Given the description of an element on the screen output the (x, y) to click on. 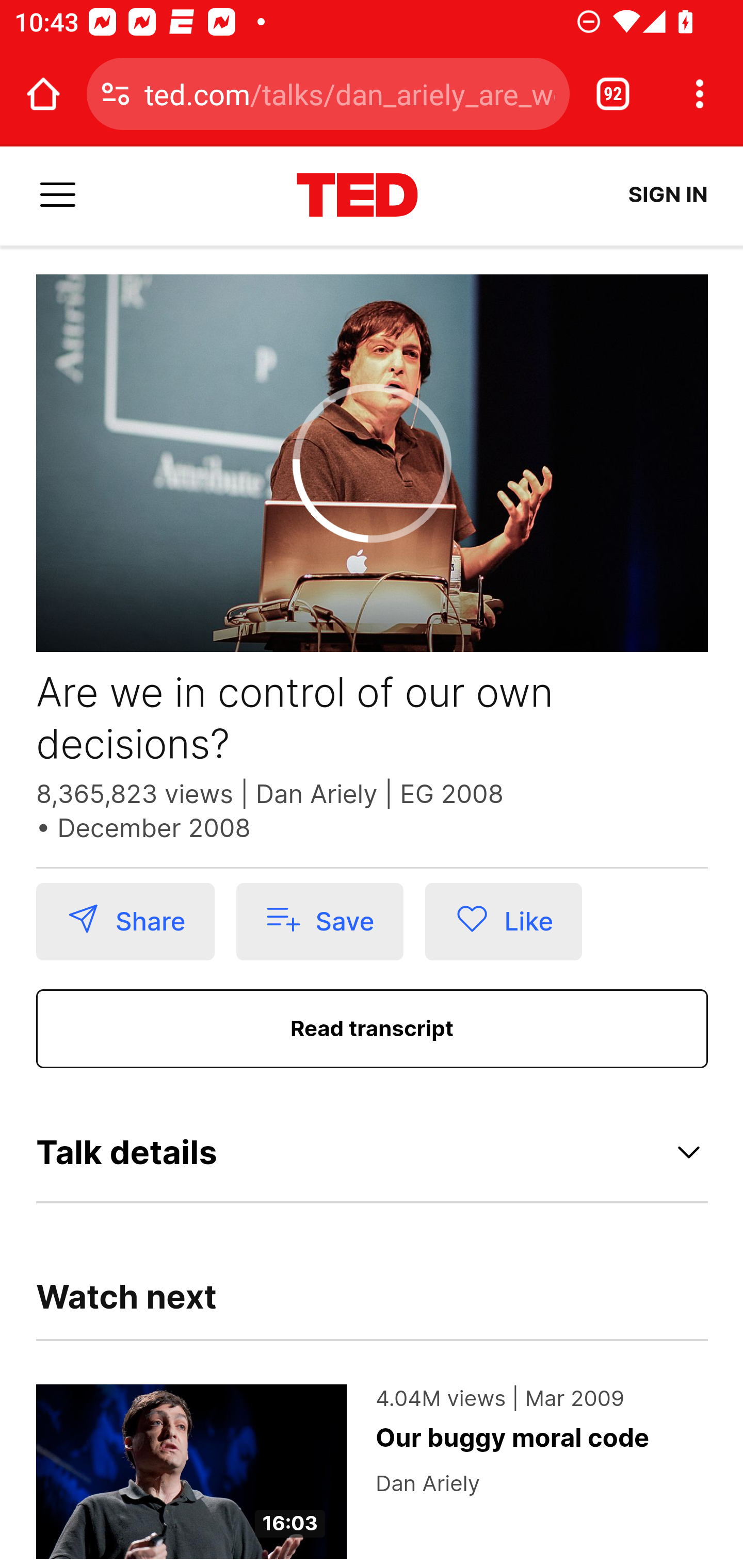
Open the home page (43, 93)
Connection is secure (115, 93)
Switch or close tabs (612, 93)
Customize and control Google Chrome (699, 93)
www.ted (357, 195)
Menu (57, 195)
SIGN IN (667, 194)
Play Video (372, 463)
